Given the description of an element on the screen output the (x, y) to click on. 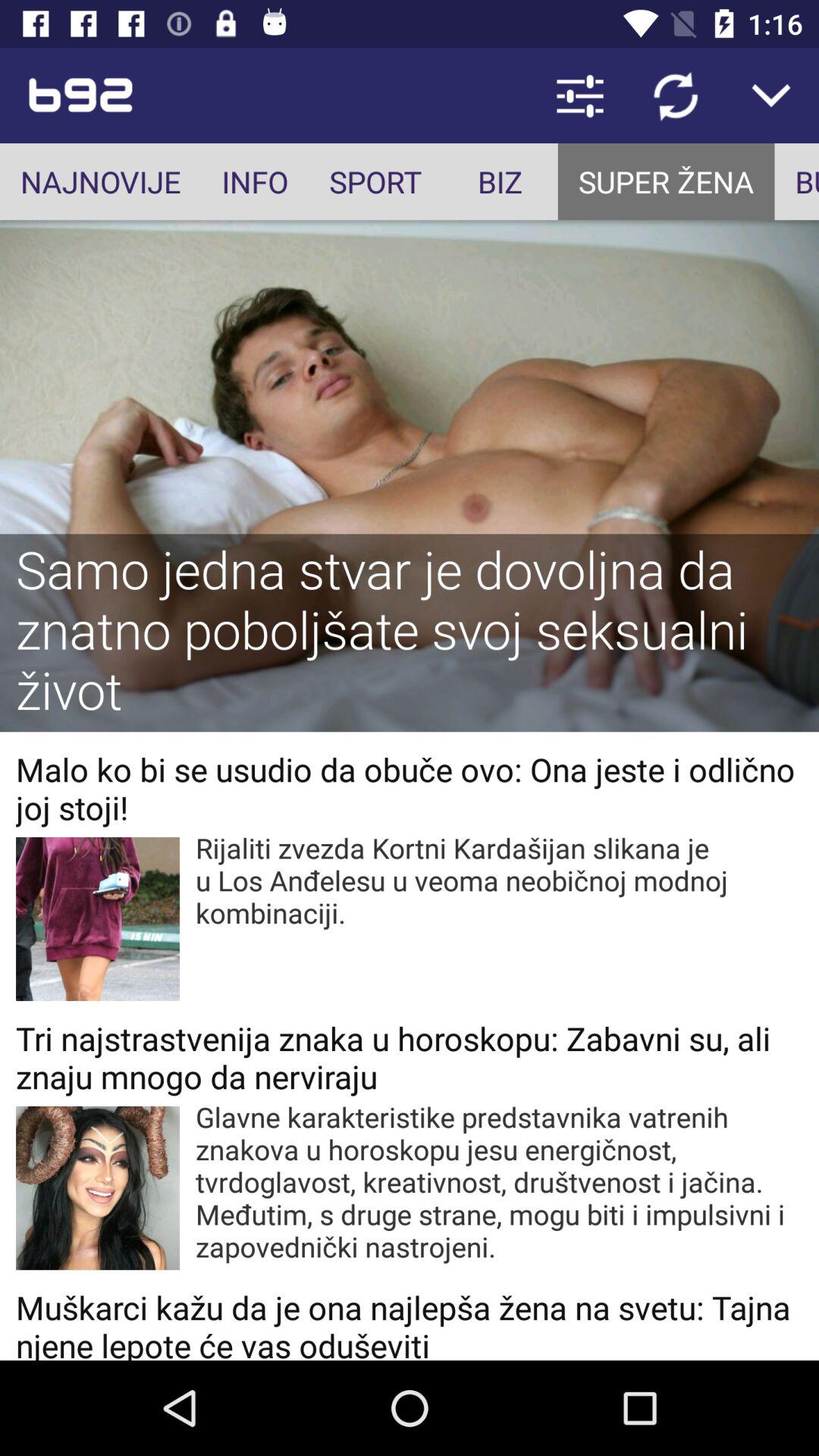
click the icon above the tri najstrastvenija znaka (499, 880)
